Given the description of an element on the screen output the (x, y) to click on. 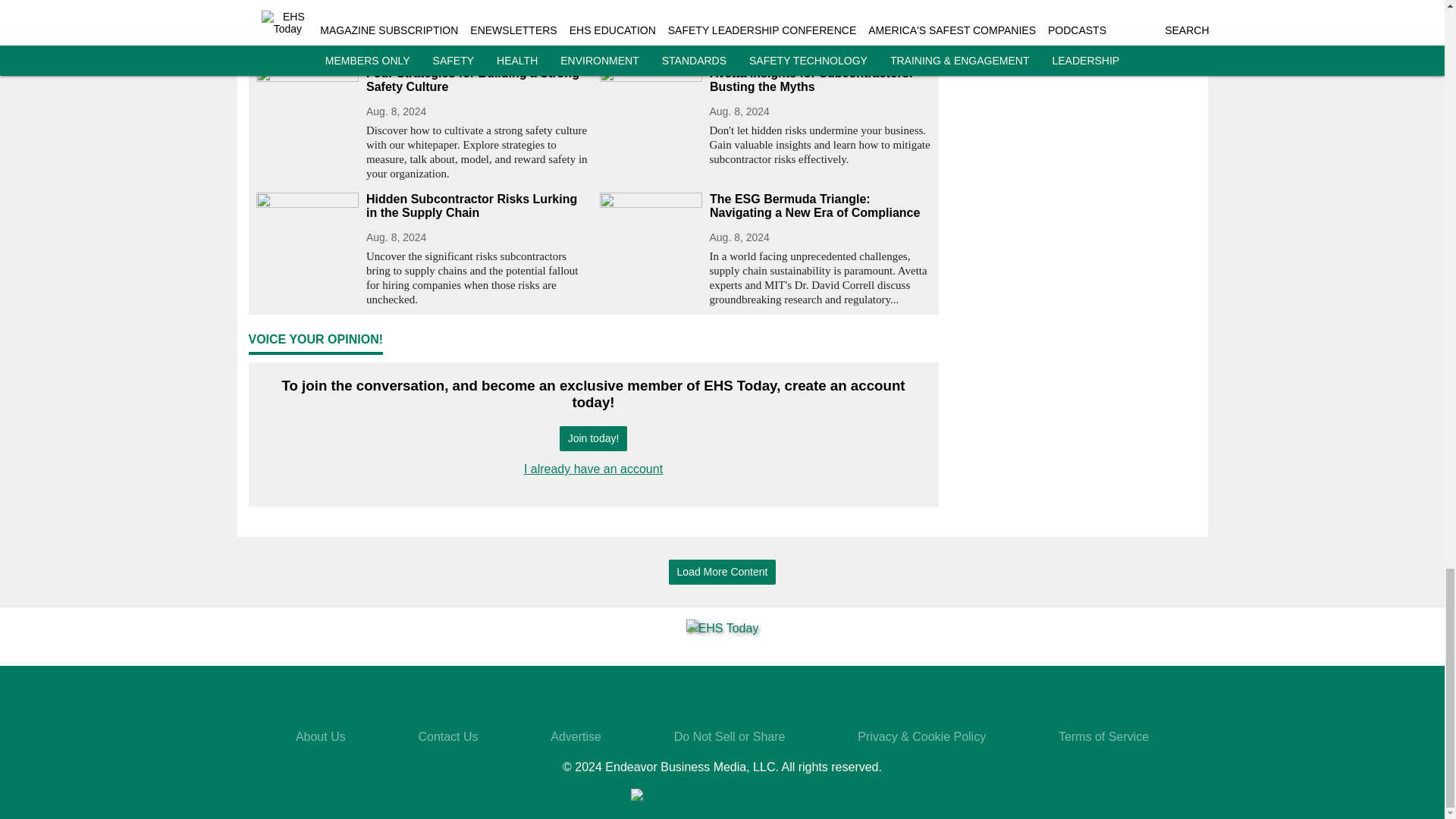
Hidden Subcontractor Risks Lurking in the Supply Chain (476, 206)
SIF Prevention Starts with Better Investigations (764, 2)
Four Strategies for Building a Strong Safety Culture (476, 80)
Avetta Insights for Subcontractors: Busting the Myths (820, 80)
The ESG Bermuda Triangle: Navigating a New Era of Compliance (820, 206)
I already have an account (593, 468)
Join today! (593, 438)
